Given the description of an element on the screen output the (x, y) to click on. 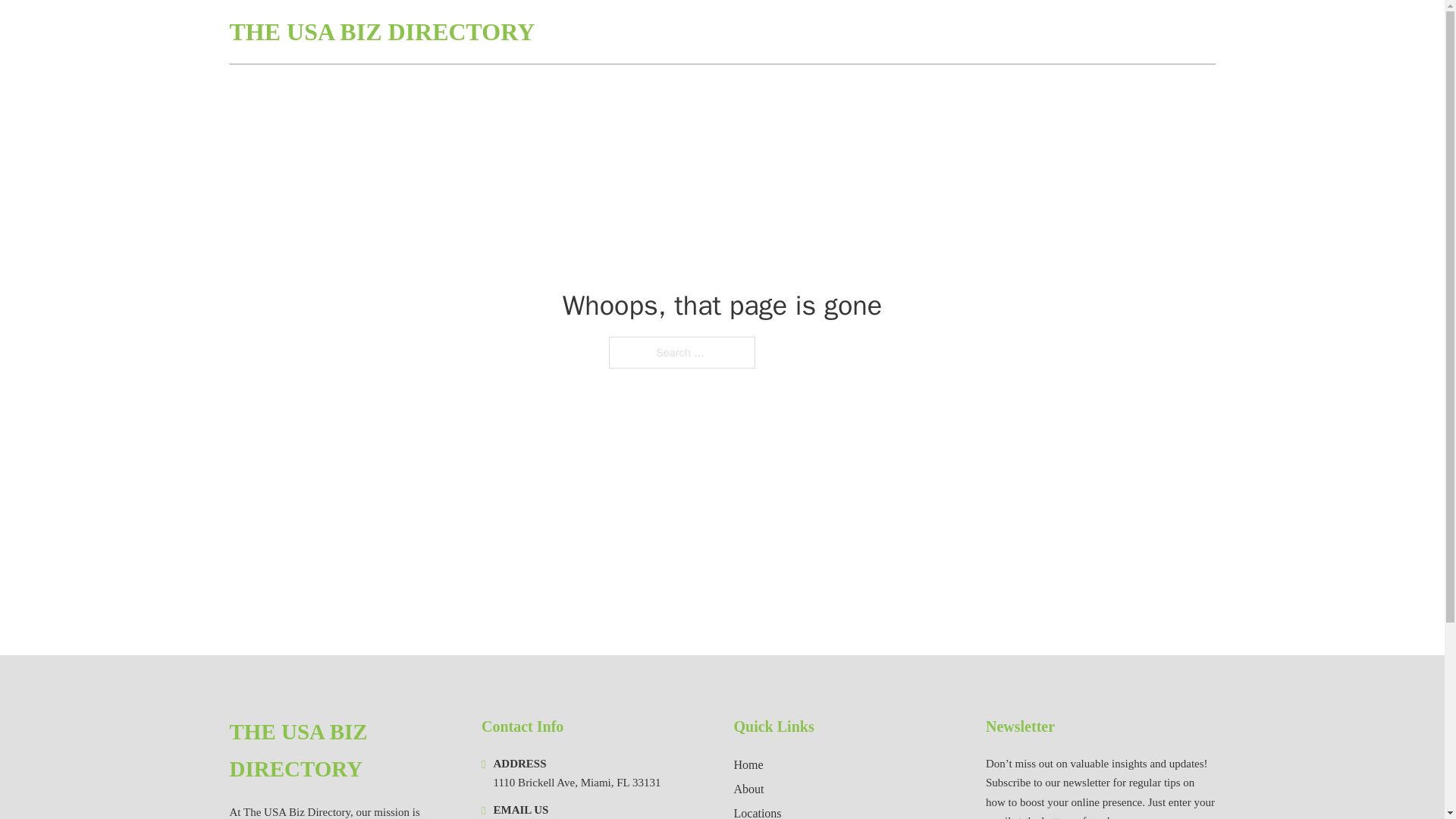
About (748, 788)
LOCATIONS (1105, 31)
Locations (757, 811)
Home (747, 764)
HOME (1032, 31)
THE USA BIZ DIRECTORY (381, 31)
THE USA BIZ DIRECTORY (343, 750)
